Given the description of an element on the screen output the (x, y) to click on. 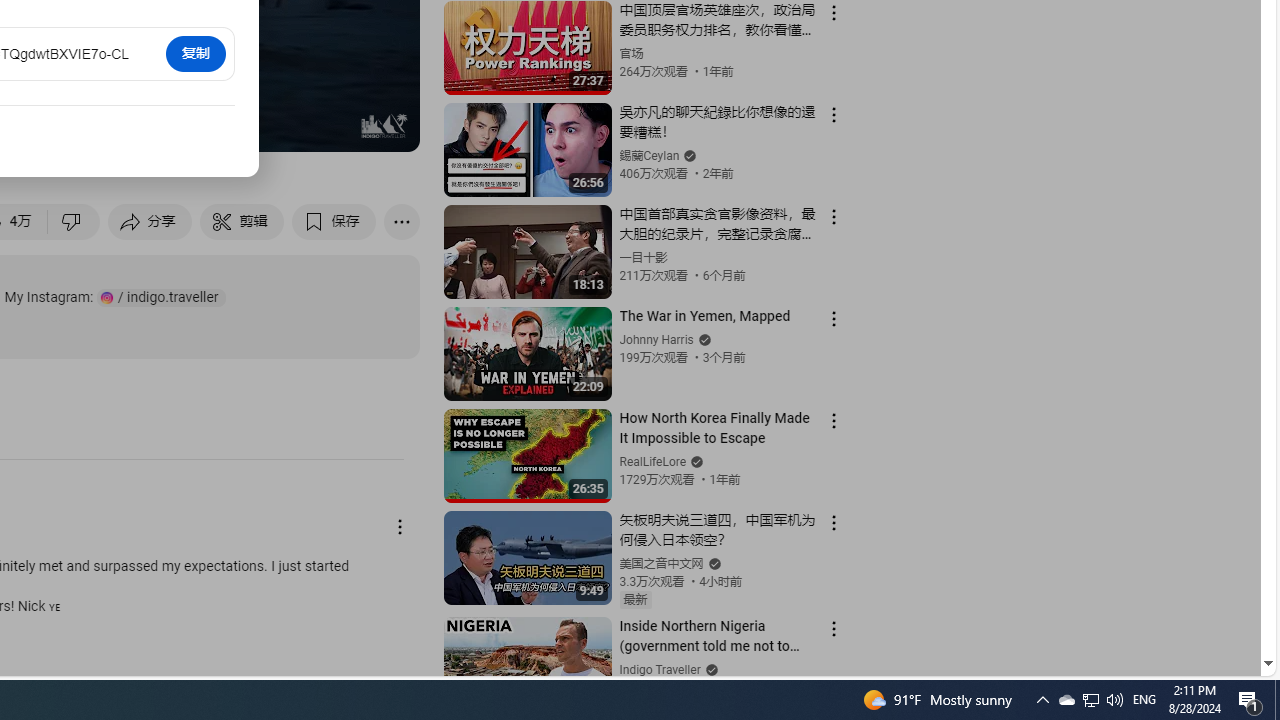
Instagram Channel Link: indigo.traveller (161, 297)
